Given the description of an element on the screen output the (x, y) to click on. 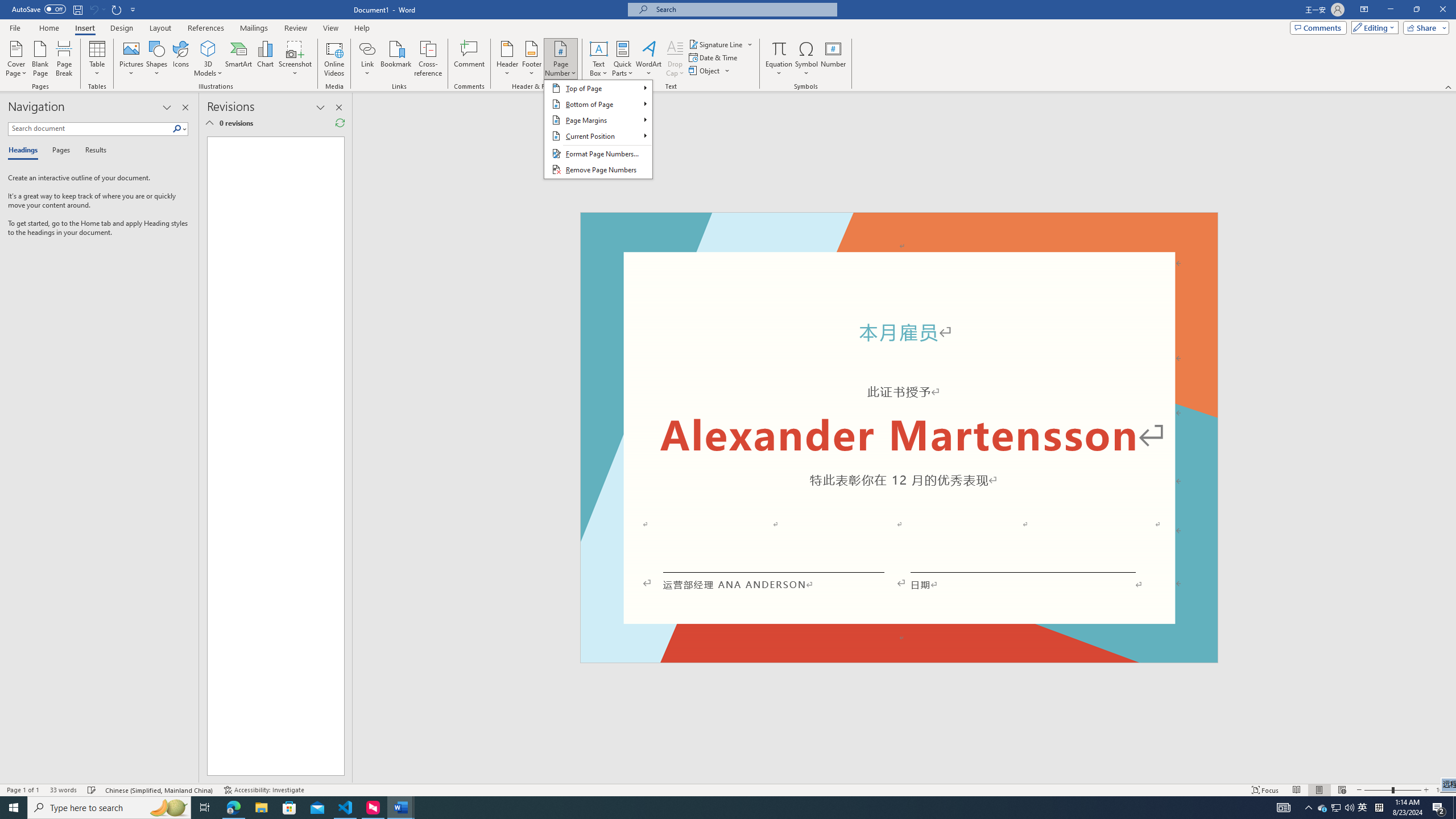
Page 1 content (898, 445)
Footer -Section 1- (1322, 807)
Zoom 100% (898, 657)
Header (1443, 790)
Type here to search (507, 58)
Tray Input Indicator - Chinese (Simplified, China) (108, 807)
Footer (1378, 807)
Object... (531, 58)
AutomationID: 4105 (705, 69)
